Given the description of an element on the screen output the (x, y) to click on. 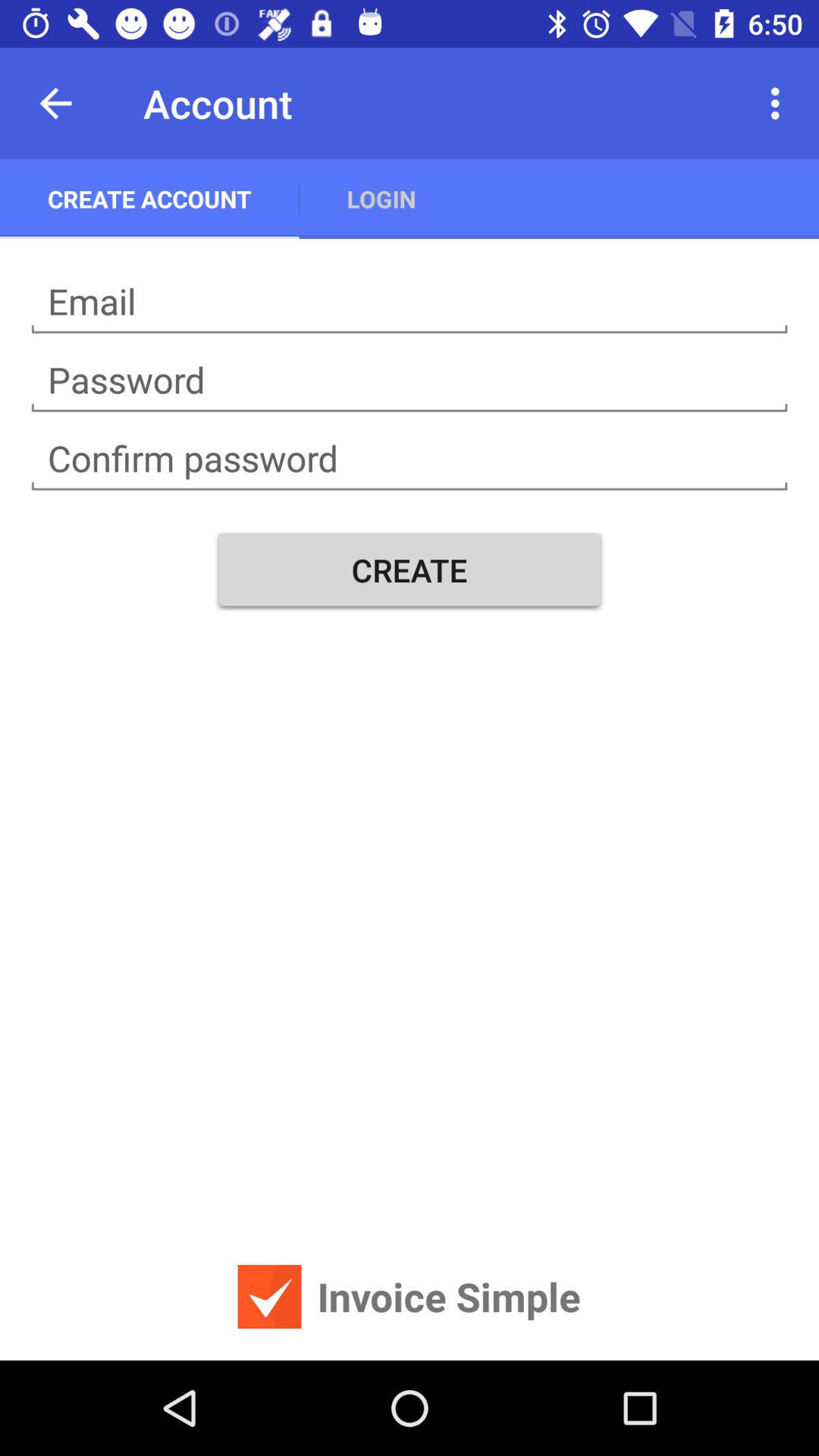
toggle email option (409, 301)
